Given the description of an element on the screen output the (x, y) to click on. 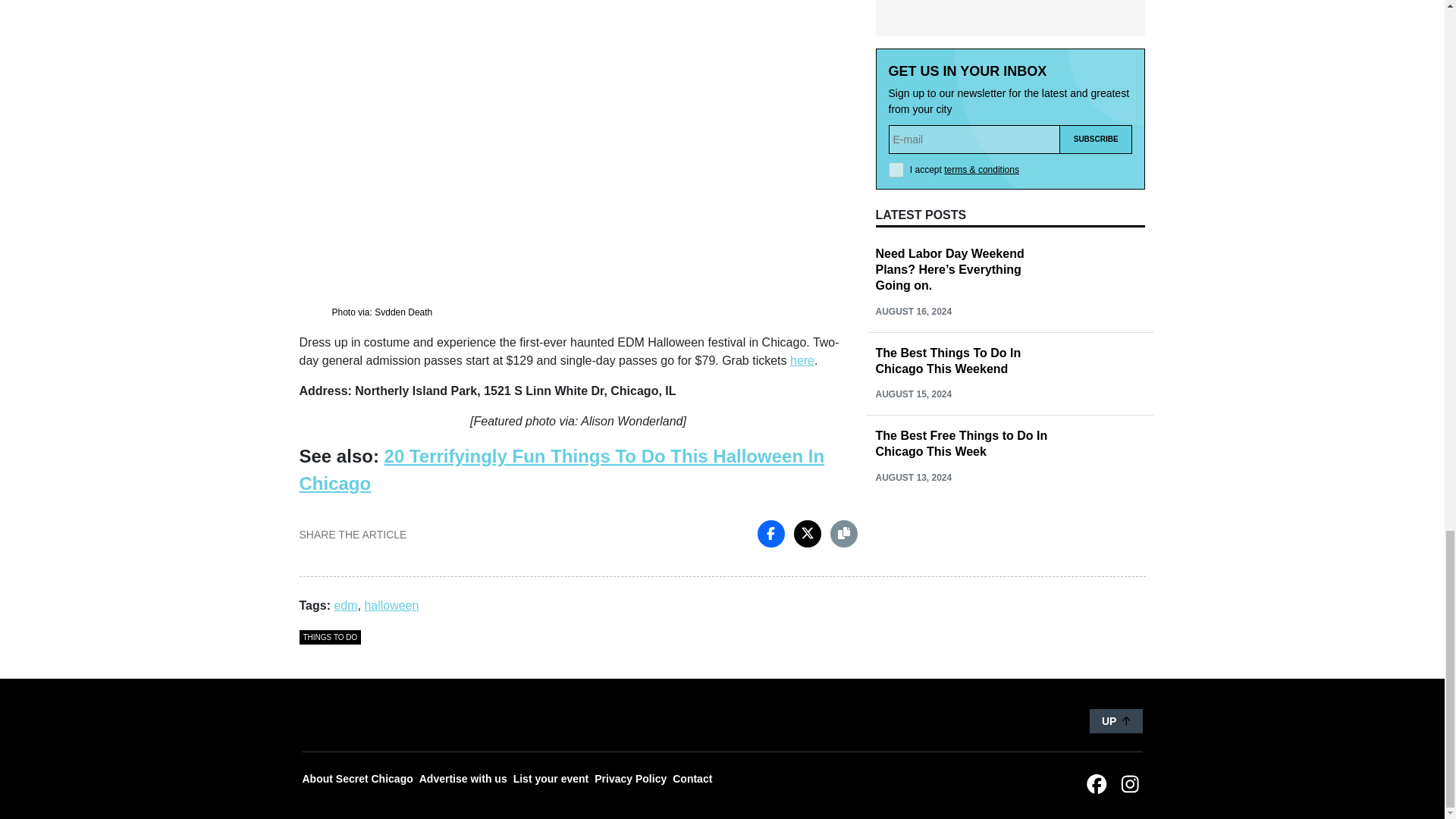
20 Terrifyingly Fun Things To Do This Halloween In Chicago (561, 469)
edm (344, 604)
THINGS TO DO (329, 636)
here (801, 359)
halloween (391, 604)
